Given the description of an element on the screen output the (x, y) to click on. 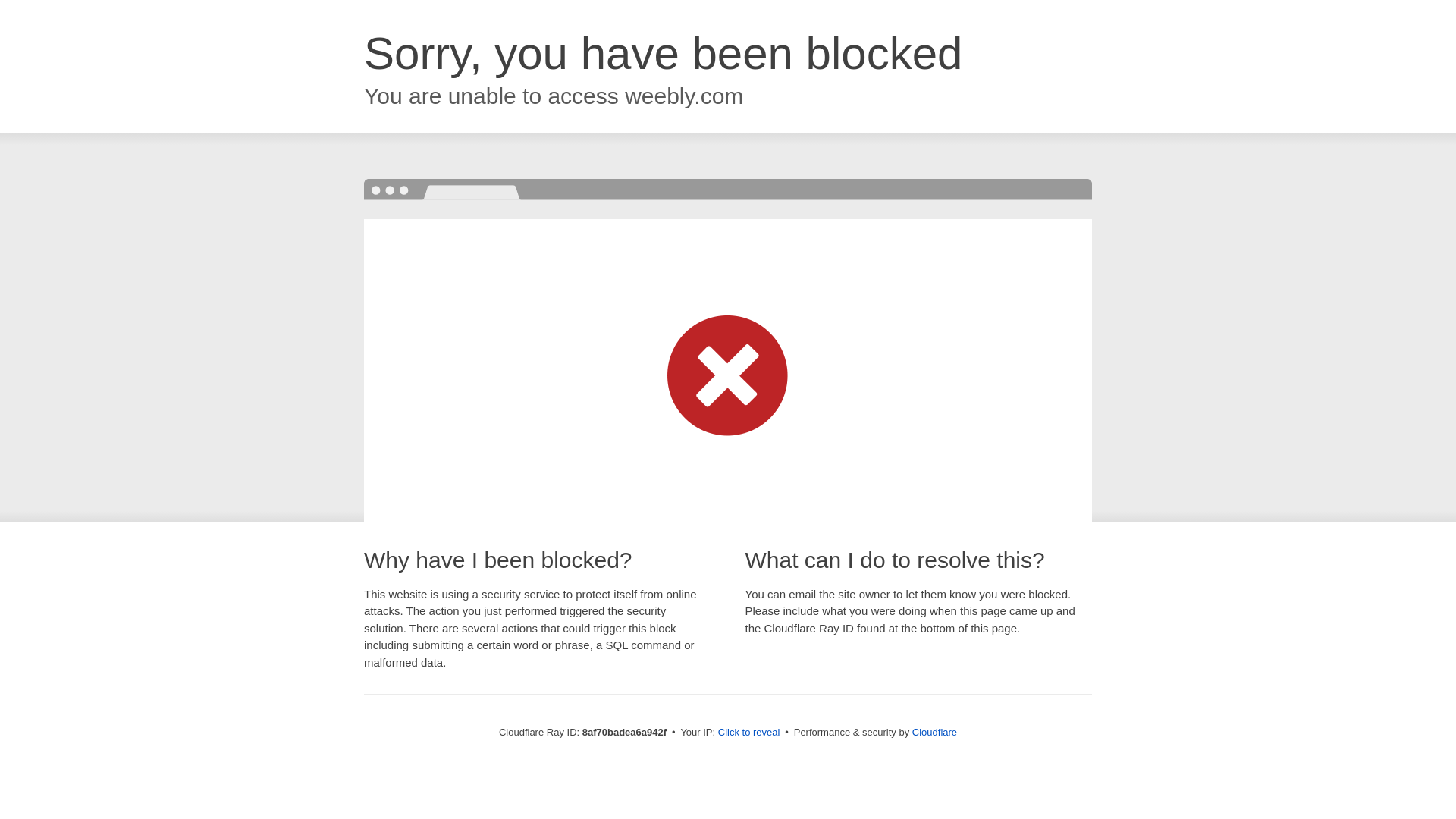
Cloudflare (934, 731)
Click to reveal (748, 732)
